Given the description of an element on the screen output the (x, y) to click on. 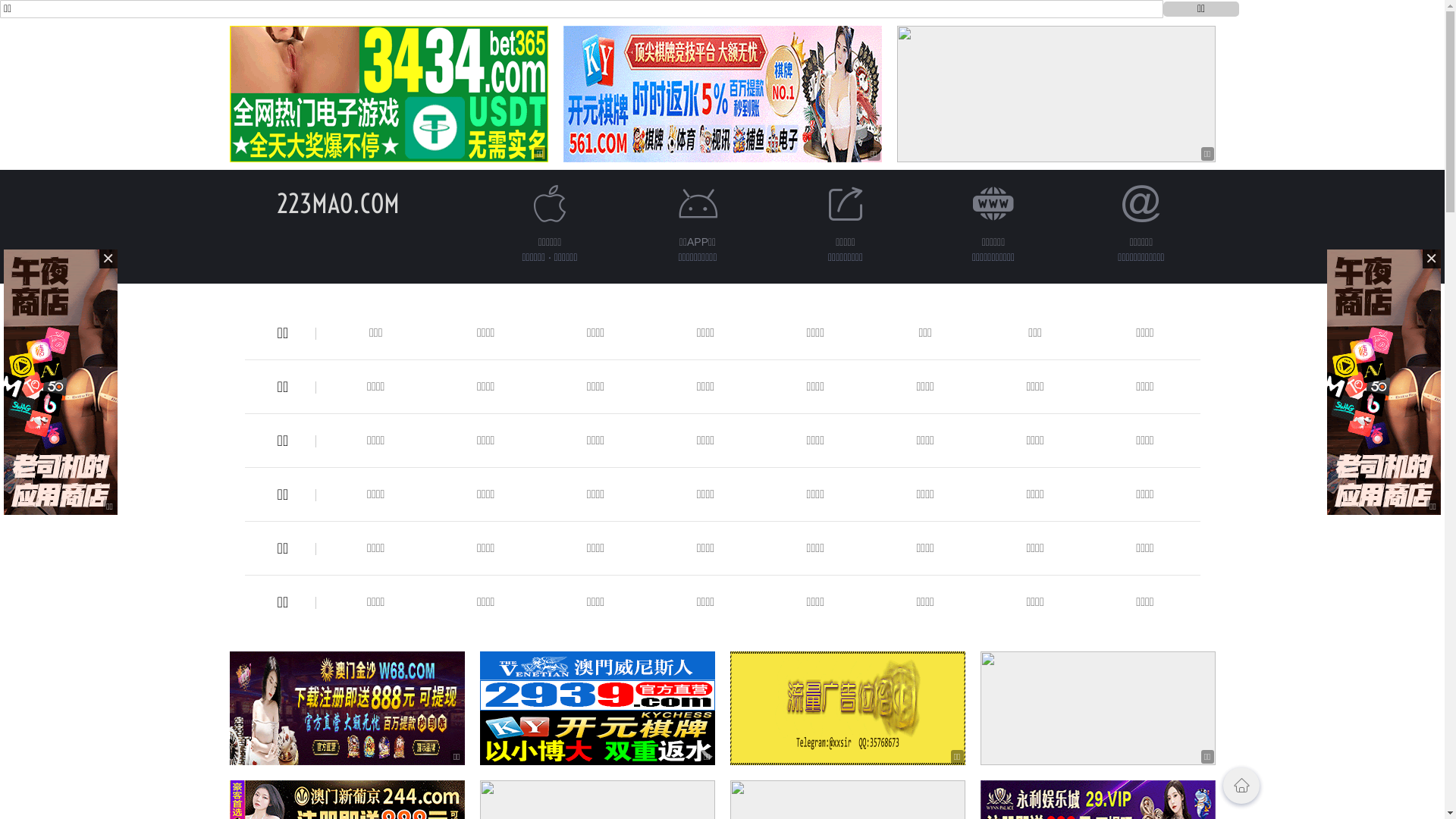
223MAO.COM Element type: text (337, 203)
